Given the description of an element on the screen output the (x, y) to click on. 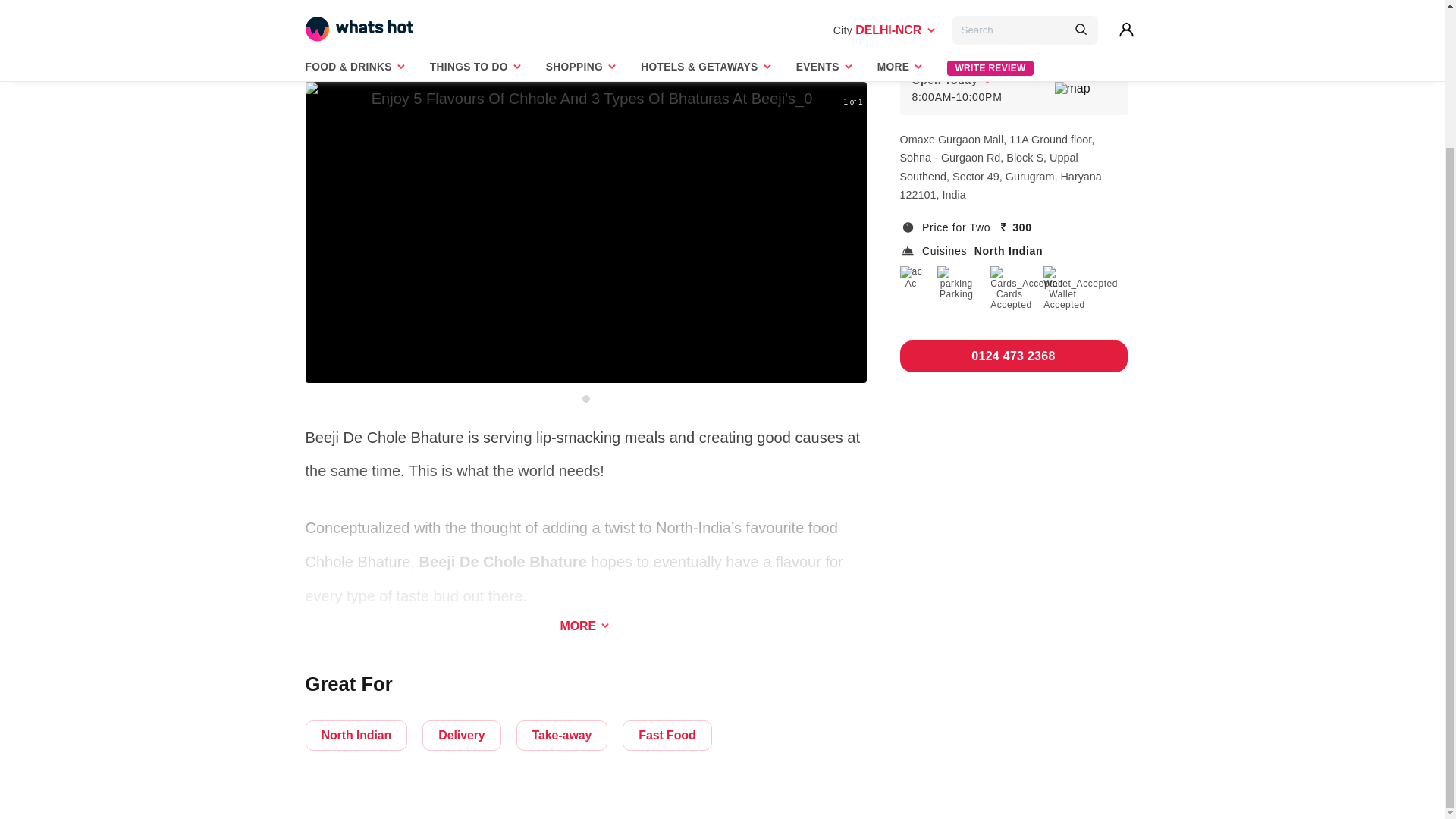
Sanchi Arora (319, 44)
